Given the description of an element on the screen output the (x, y) to click on. 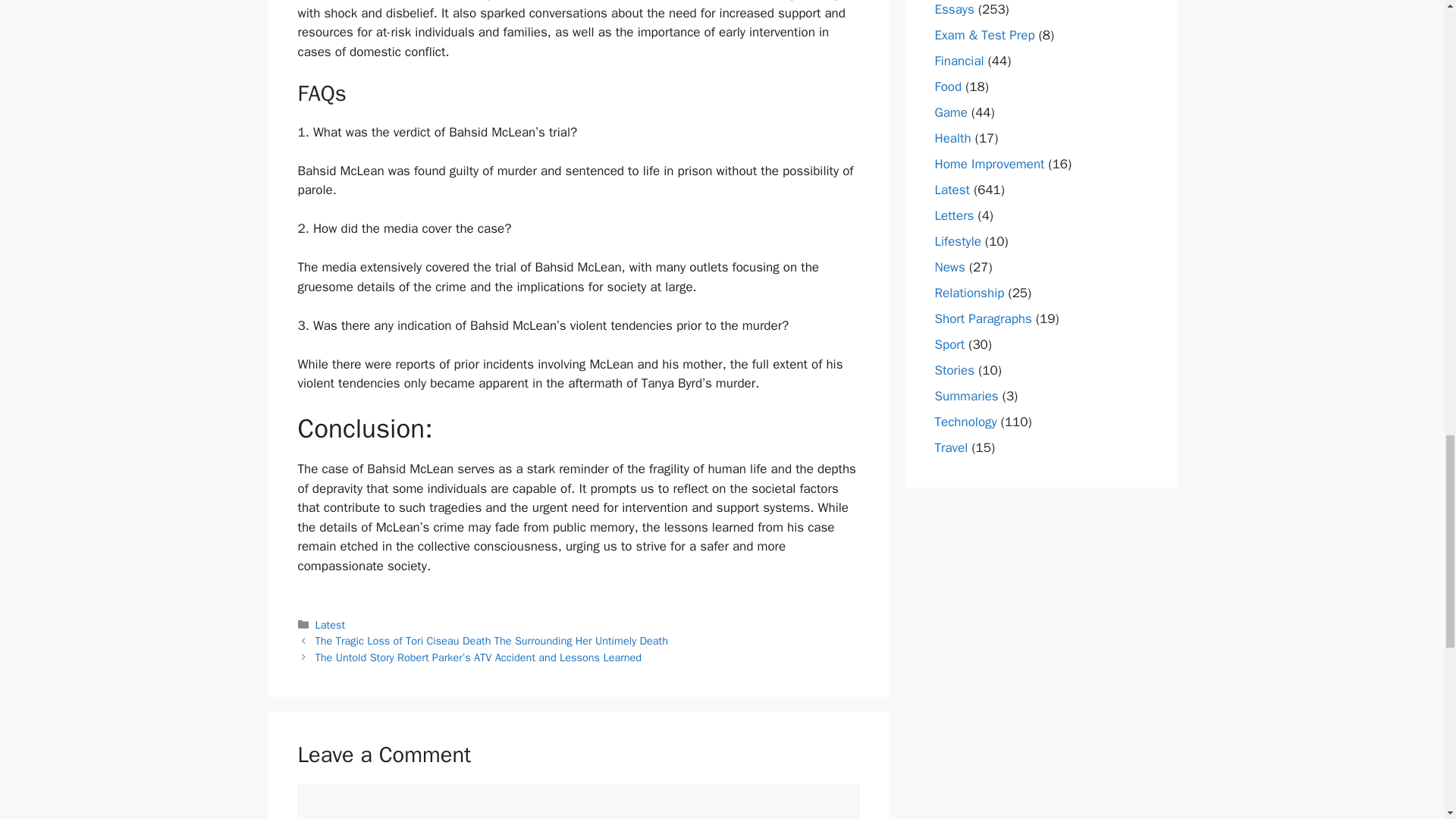
Financial (959, 60)
Latest (330, 624)
Food (947, 86)
Essays (954, 9)
